Given the description of an element on the screen output the (x, y) to click on. 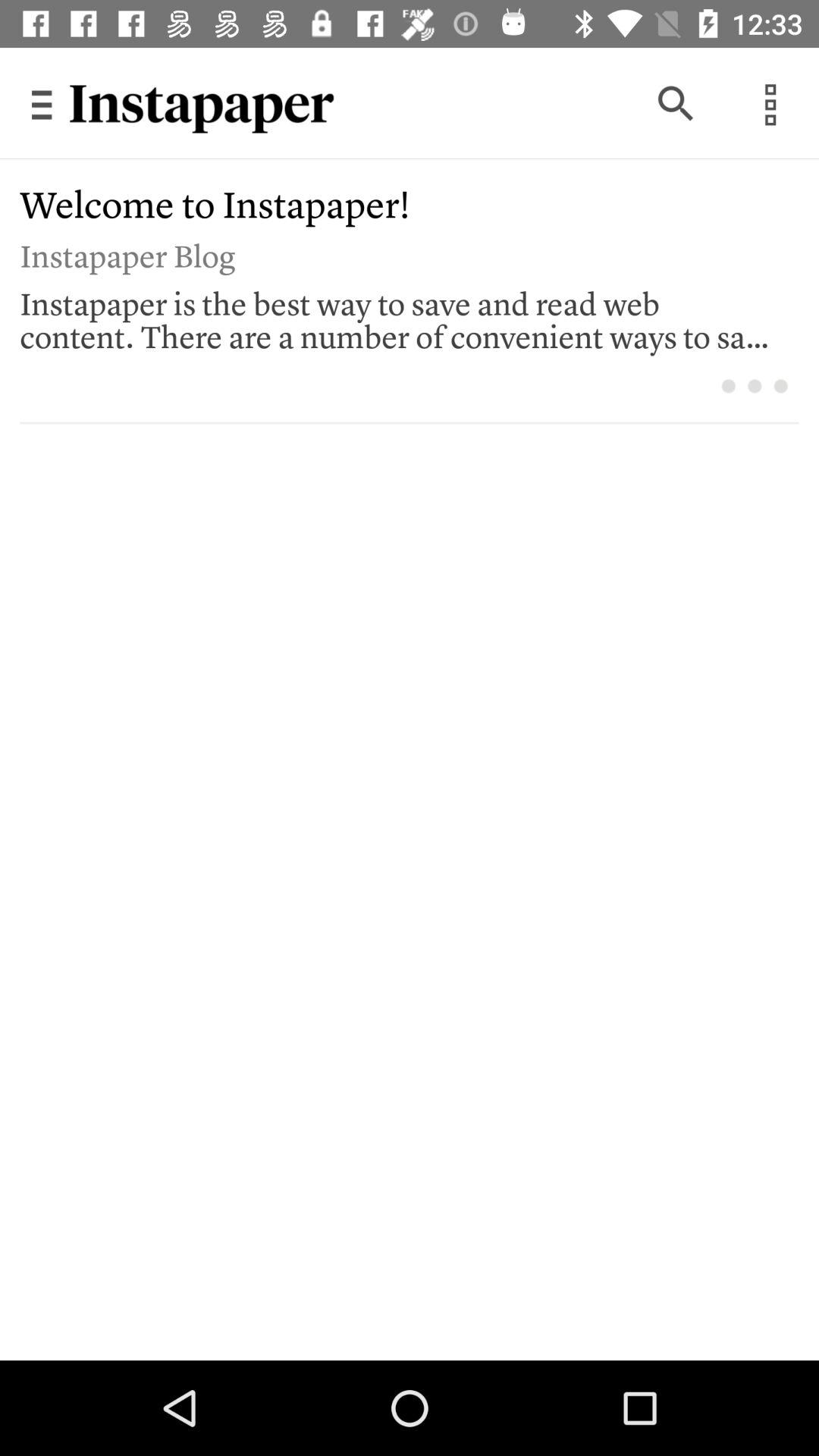
jump to the instapaper is the icon (399, 316)
